Given the description of an element on the screen output the (x, y) to click on. 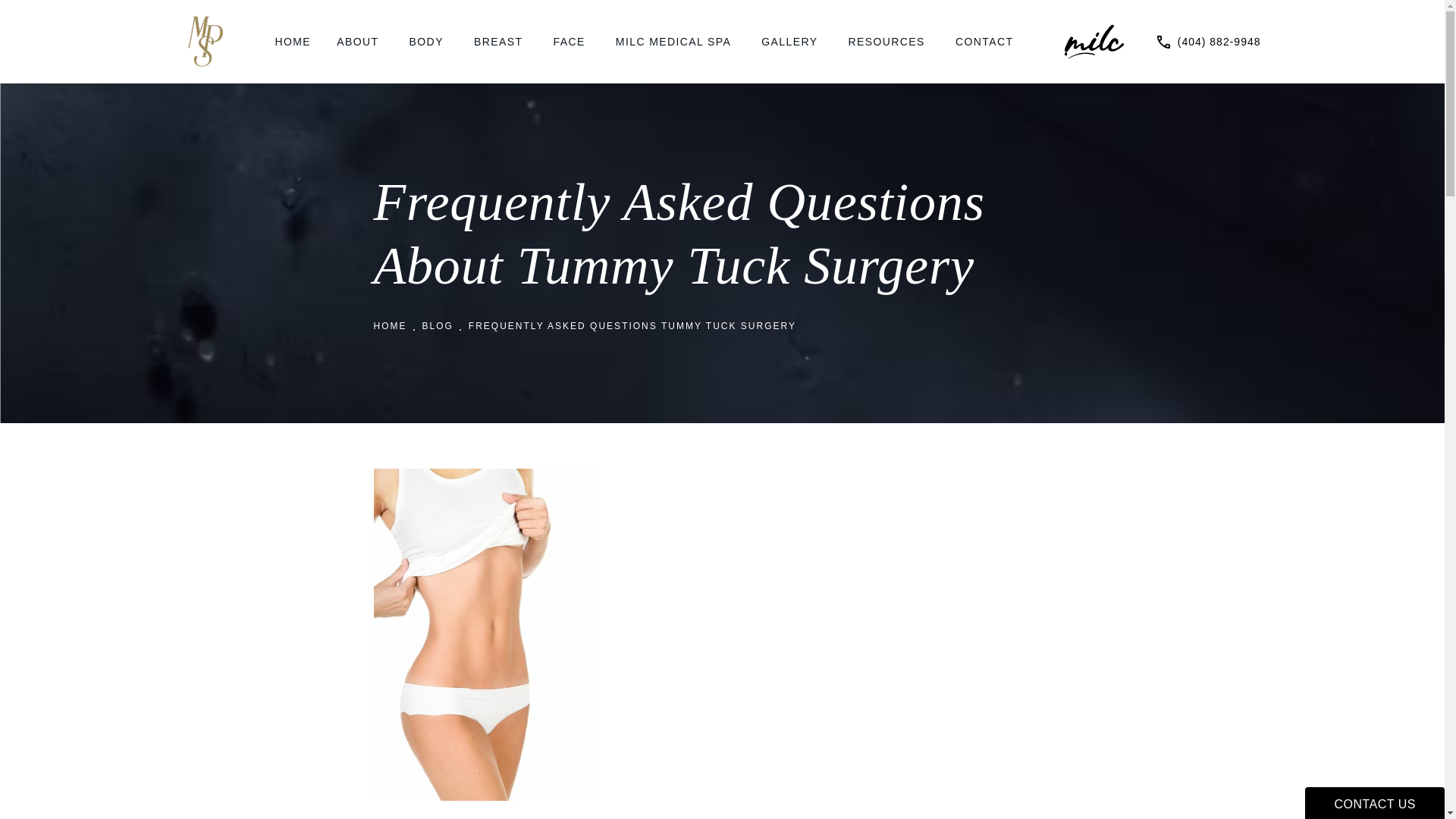
ABOUT (359, 41)
HOME (292, 41)
BODY (428, 41)
BREAST (499, 41)
FACE (571, 41)
